Given the description of an element on the screen output the (x, y) to click on. 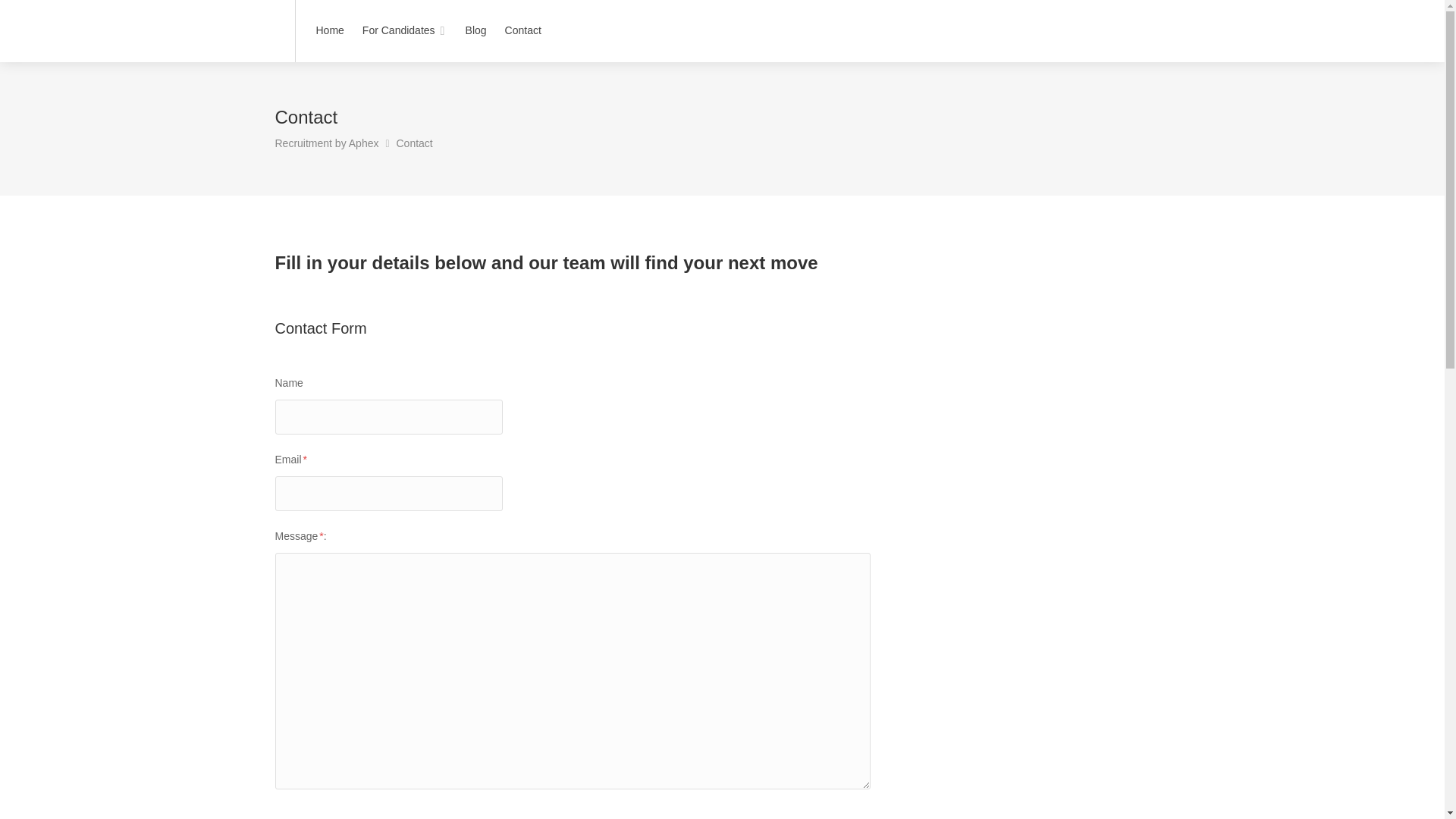
Go to Recruitment by Aphex. (326, 143)
Home (329, 30)
Contact (523, 30)
Recruitment by Aphex (326, 143)
Blog (476, 30)
For Candidates (404, 30)
